Given the description of an element on the screen output the (x, y) to click on. 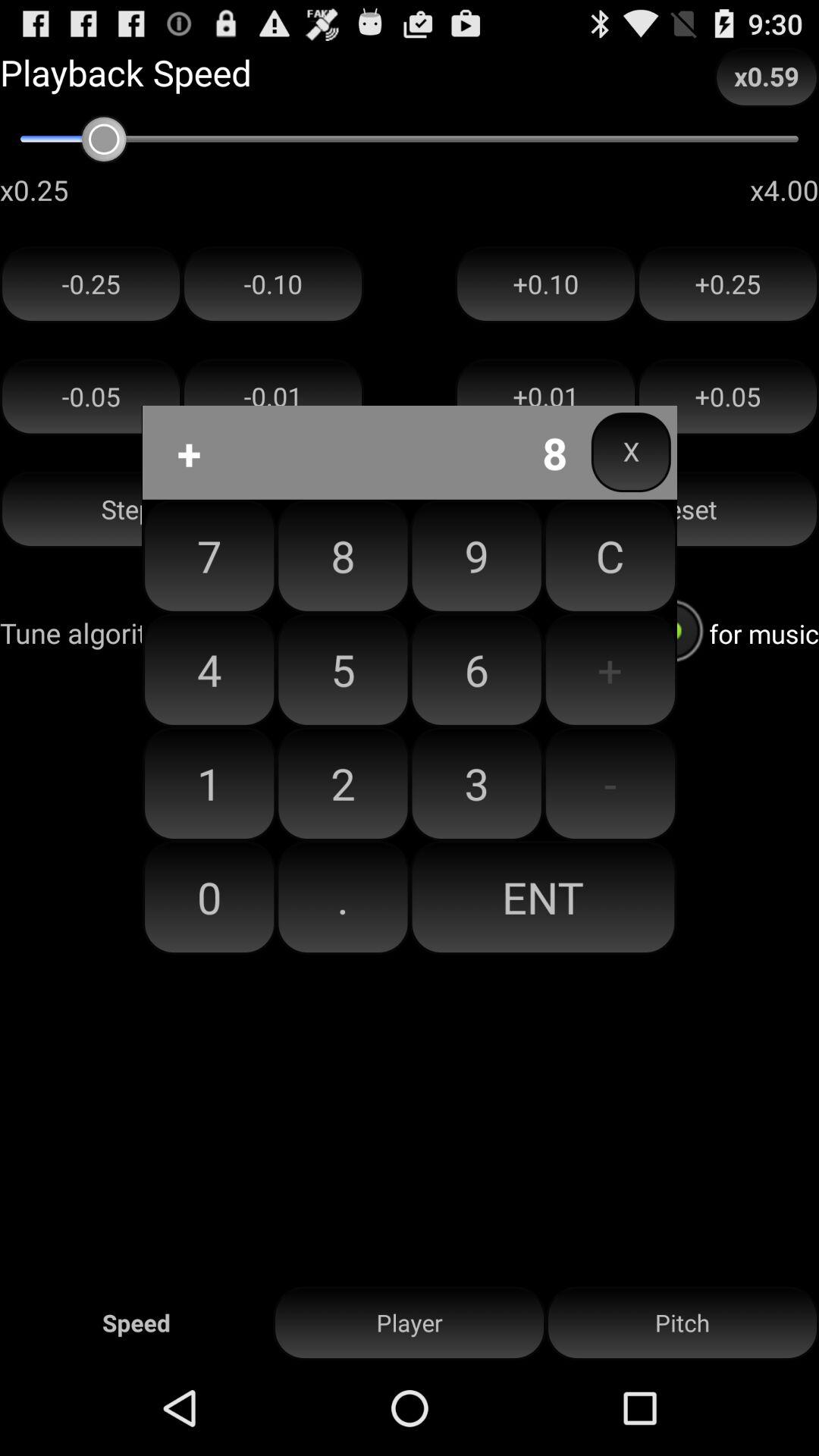
open button below 9 (609, 669)
